Given the description of an element on the screen output the (x, y) to click on. 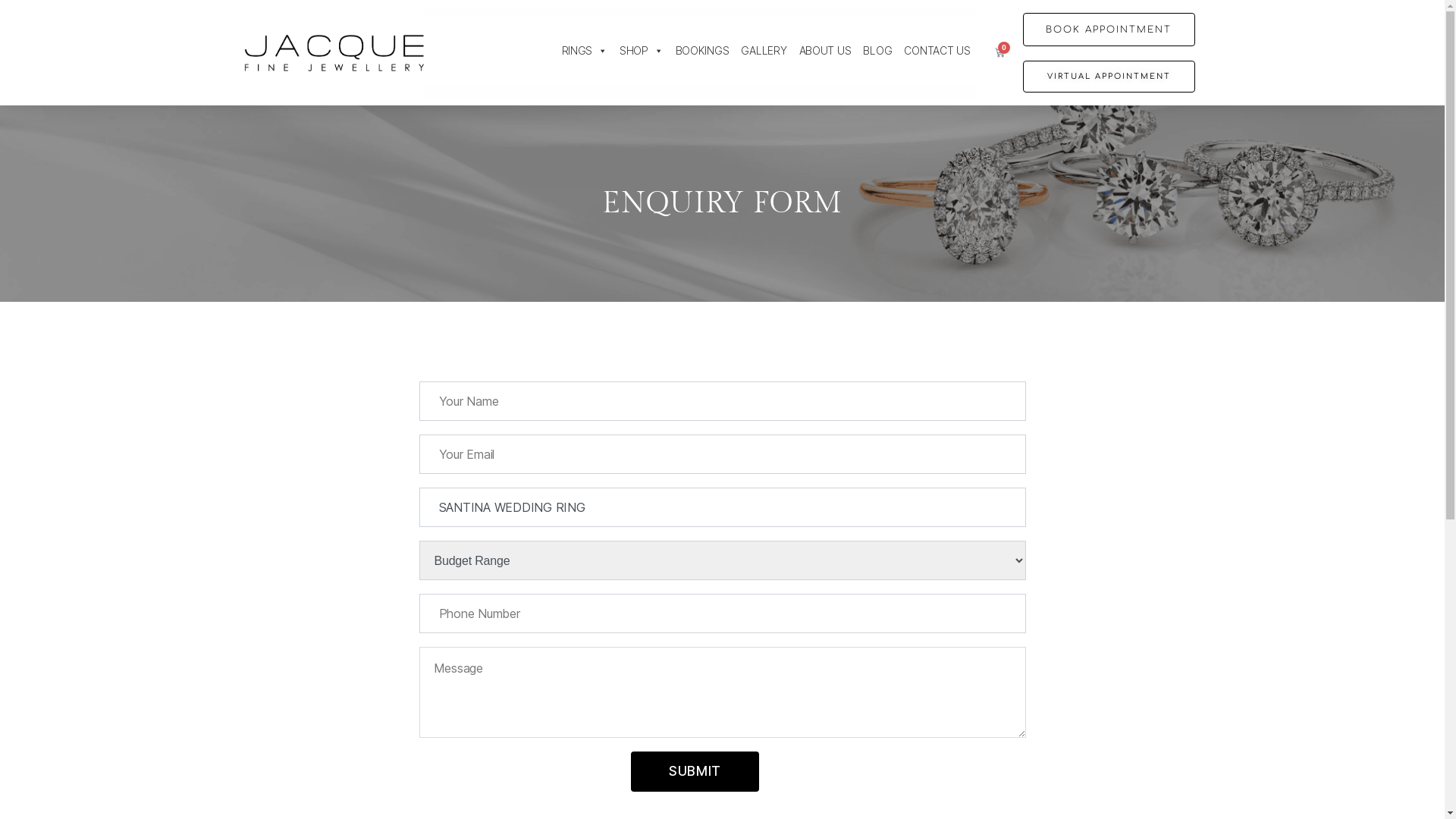
0 Element type: text (999, 52)
BOOK APPOINTMENT Element type: text (1108, 29)
RINGS Element type: text (584, 50)
CONTACT US Element type: text (936, 50)
Submit Element type: text (694, 771)
BOOKINGS Element type: text (702, 50)
VIRTUAL APPOINTMENT Element type: text (1108, 76)
ABOUT US Element type: text (825, 50)
SHOP Element type: text (641, 50)
GALLERY Element type: text (763, 50)
BLOG Element type: text (876, 50)
